Given the description of an element on the screen output the (x, y) to click on. 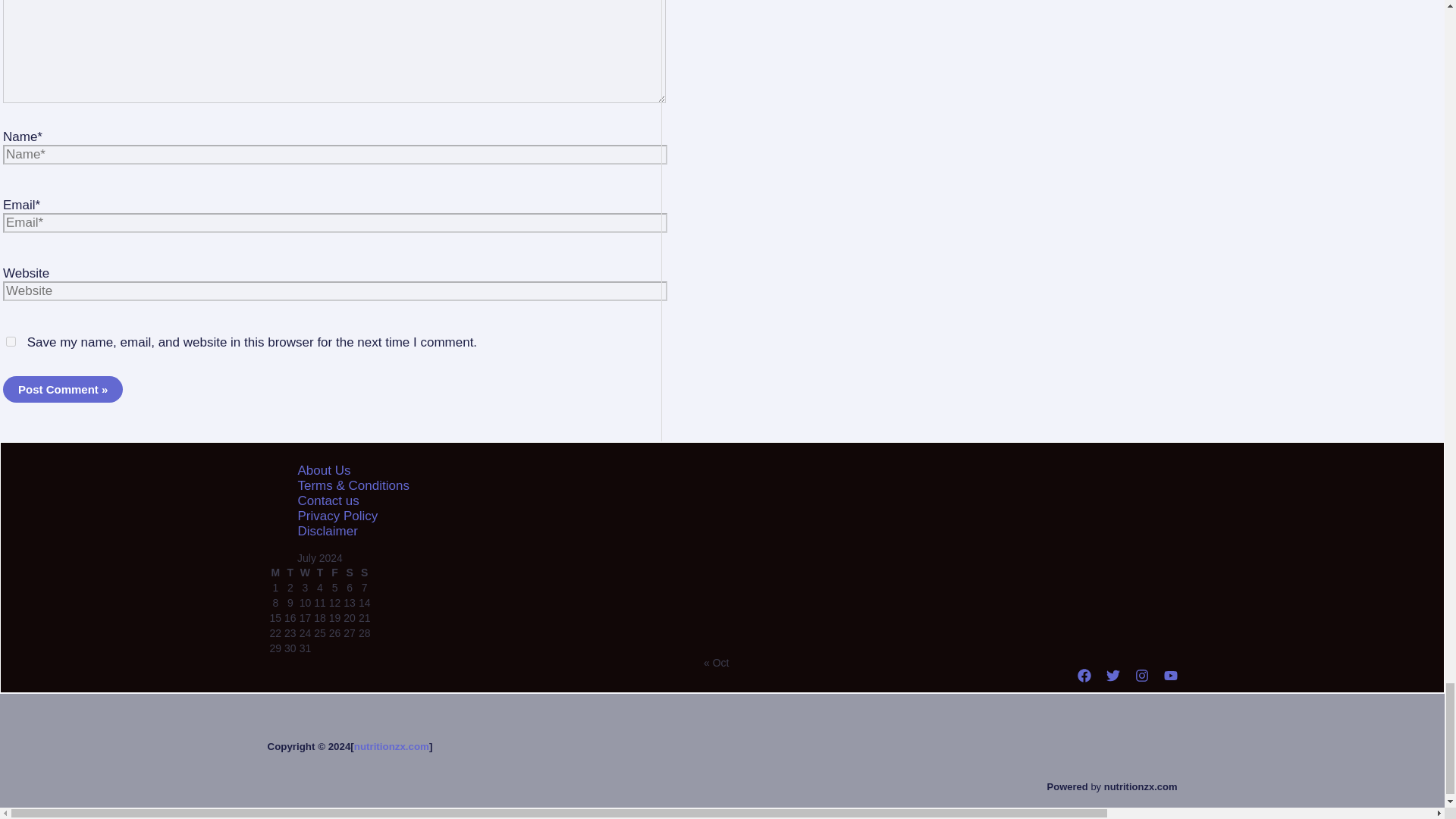
Saturday (349, 572)
Sunday (364, 572)
Friday (335, 572)
Thursday (319, 572)
Tuesday (290, 572)
Monday (274, 572)
yes (10, 341)
Wednesday (305, 572)
